Given the description of an element on the screen output the (x, y) to click on. 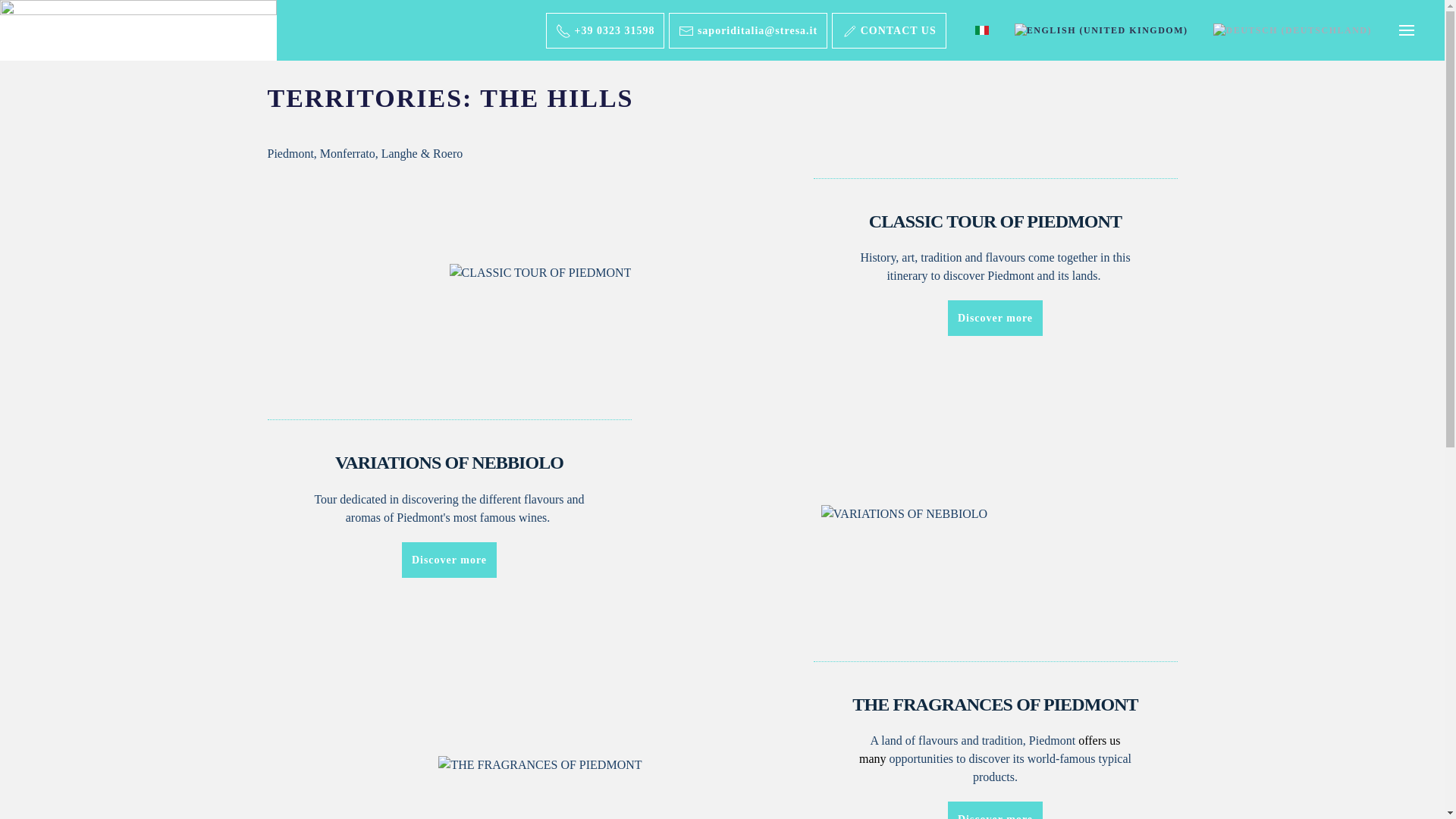
 CONTACT US (888, 29)
